Given the description of an element on the screen output the (x, y) to click on. 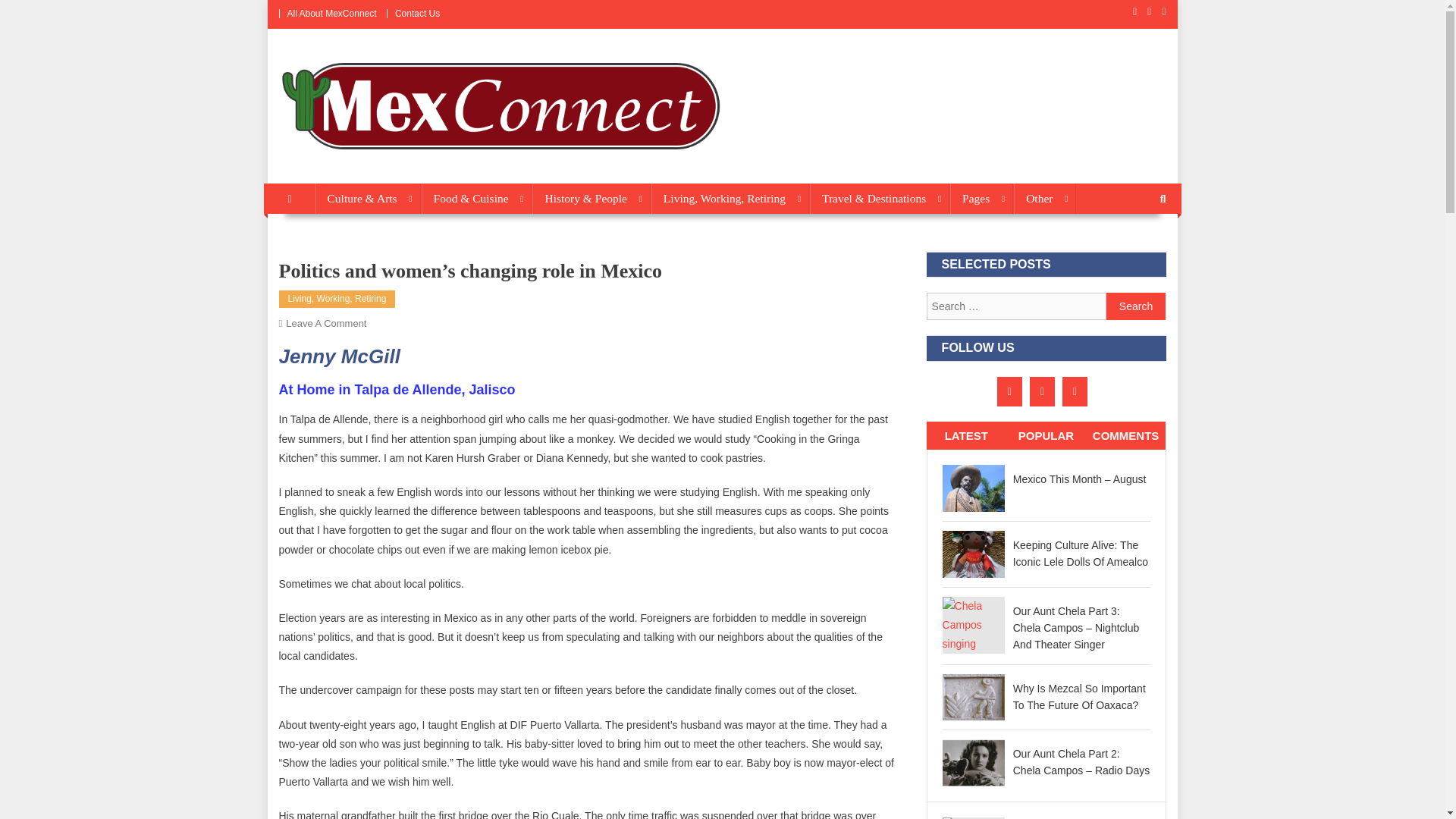
MexConnect (344, 167)
Contact Us (416, 13)
Search (1136, 306)
All About MexConnect (330, 13)
Living, Working, Retiring (729, 198)
Search (1136, 306)
